Given the description of an element on the screen output the (x, y) to click on. 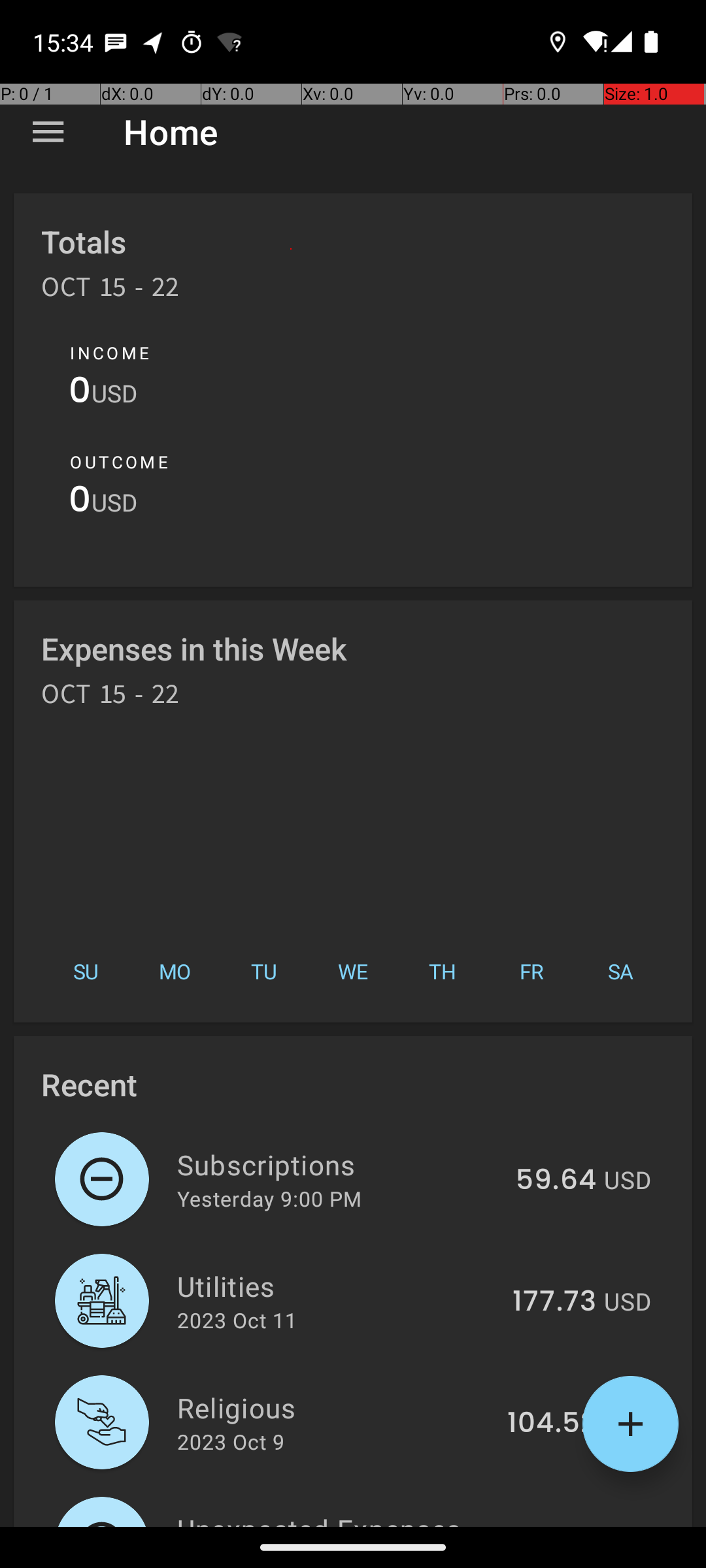
Yesterday 9:00 PM Element type: android.widget.TextView (269, 1198)
59.64 Element type: android.widget.TextView (555, 1180)
Utilities Element type: android.widget.TextView (337, 1285)
177.73 Element type: android.widget.TextView (553, 1301)
Religious Element type: android.widget.TextView (334, 1407)
104.52 Element type: android.widget.TextView (551, 1423)
Unexpected Expenses Element type: android.widget.TextView (334, 1518)
175.55 Element type: android.widget.TextView (551, 1524)
